Given the description of an element on the screen output the (x, y) to click on. 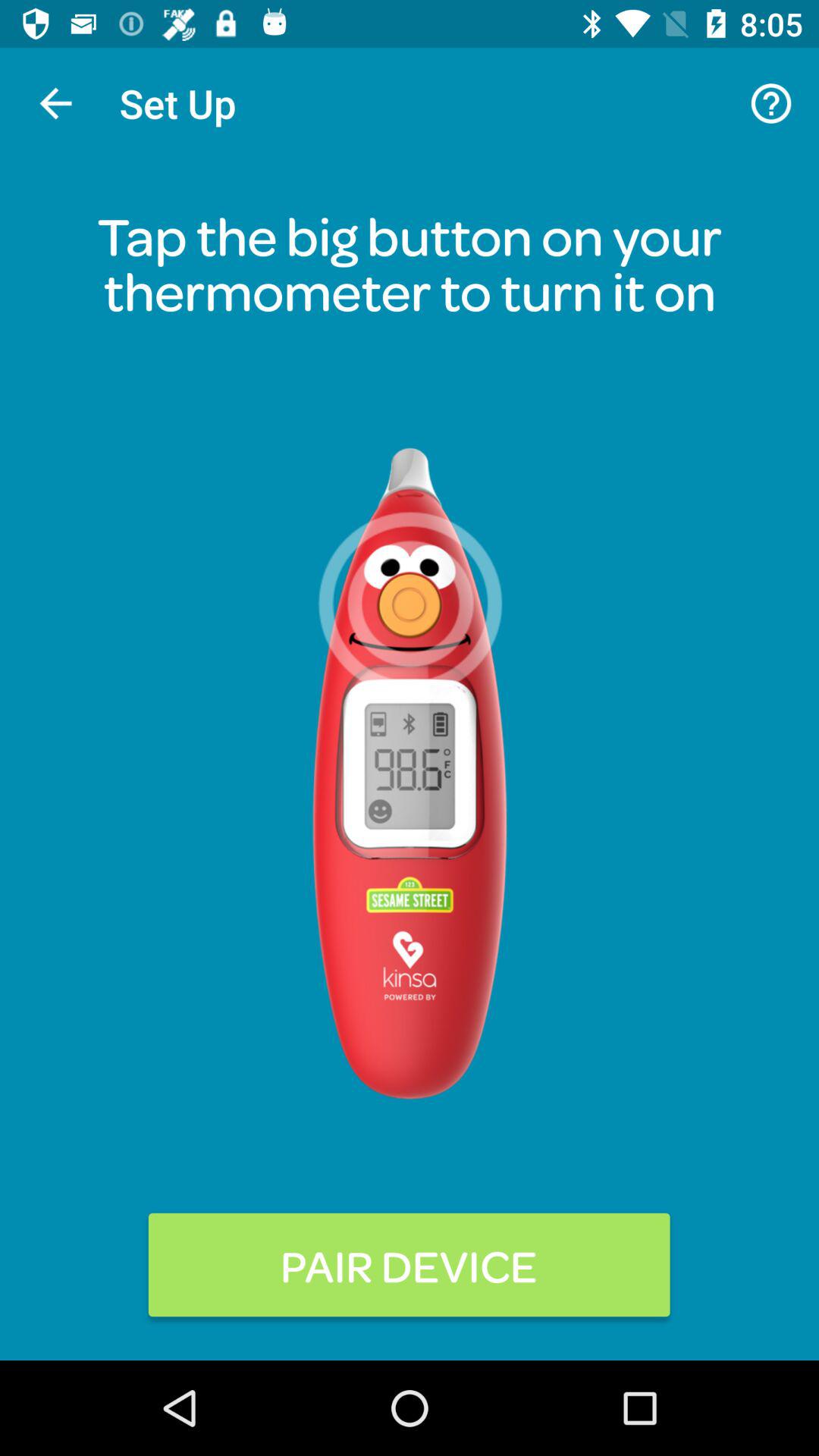
choose the icon above tap the big (771, 103)
